Given the description of an element on the screen output the (x, y) to click on. 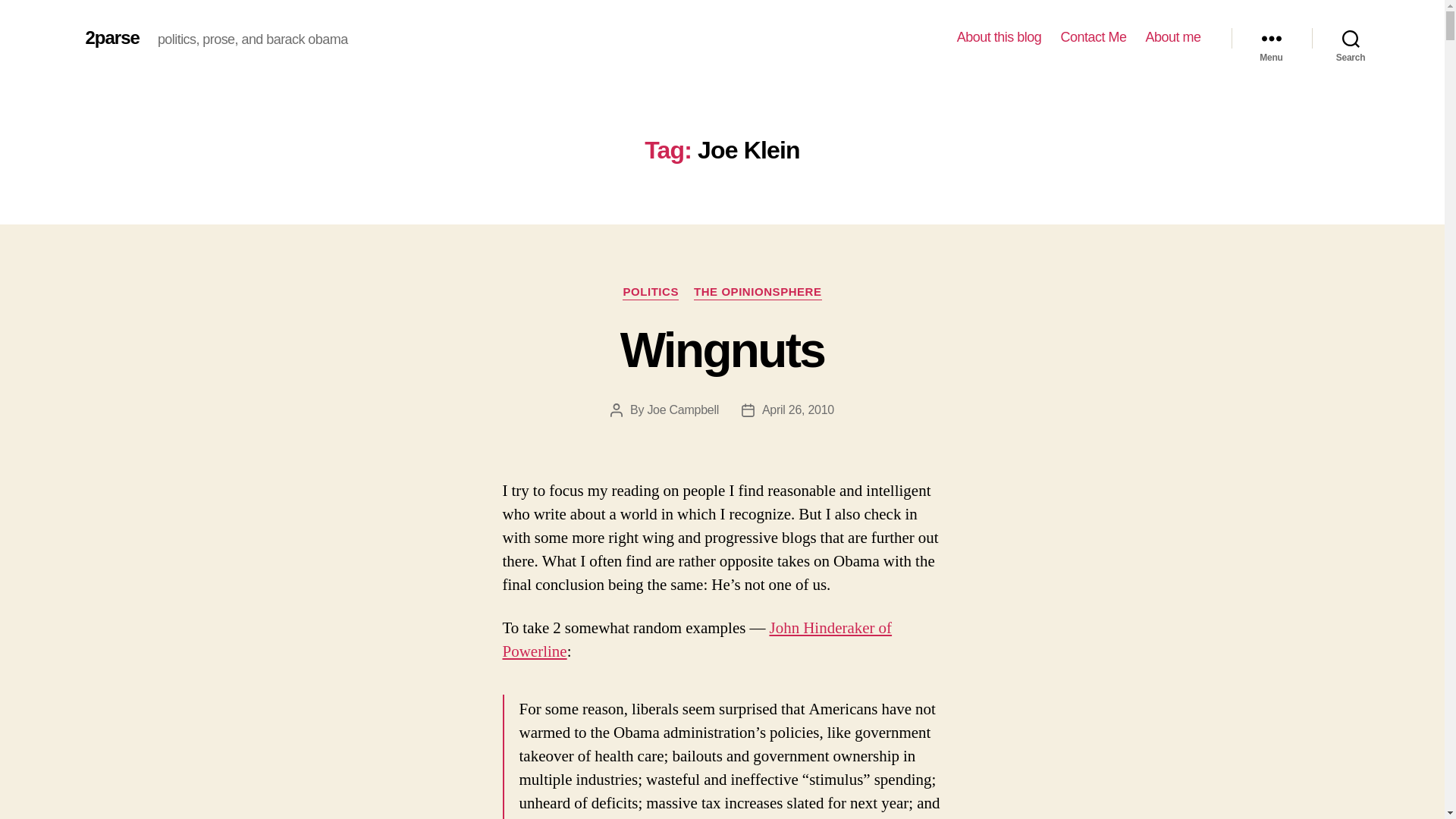
Joe Campbell (682, 409)
POLITICS (650, 292)
About this blog (999, 37)
THE OPINIONSPHERE (758, 292)
John Hinderaker of Powerline (696, 639)
About me (1171, 37)
Search (1350, 37)
Wingnuts (722, 349)
April 26, 2010 (797, 409)
Contact Me (1092, 37)
2parse (111, 37)
Menu (1271, 37)
